Given the description of an element on the screen output the (x, y) to click on. 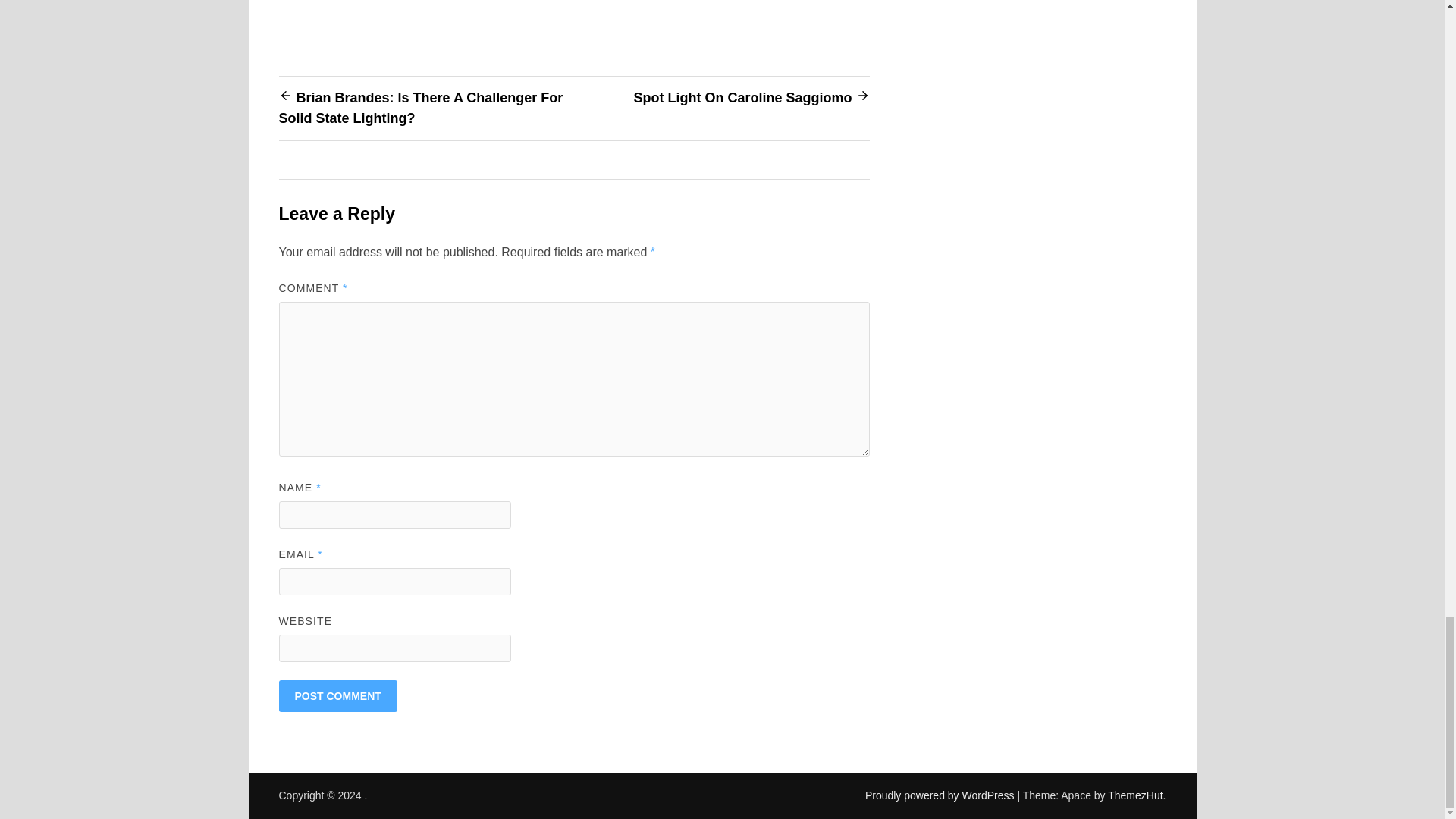
Spot Light On Caroline Saggiomo (742, 97)
Post Comment (338, 695)
Post Comment (338, 695)
